Given the description of an element on the screen output the (x, y) to click on. 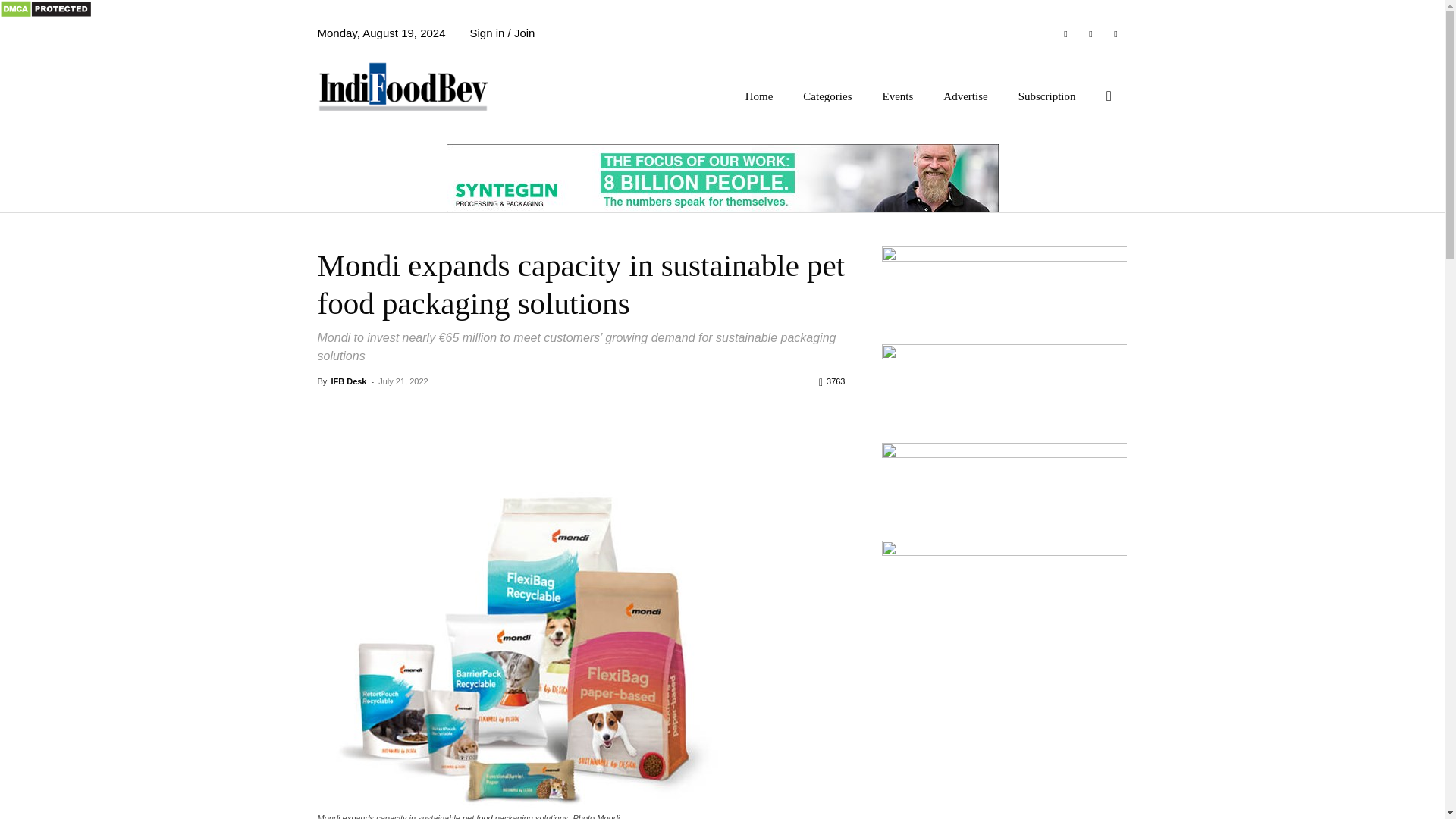
Linkedin (1090, 33)
topFacebookLike (430, 408)
IndiFoodBev (411, 85)
Twitter (1114, 33)
DMCA.com Protection Status (45, 14)
Facebook (1065, 33)
